Given the description of an element on the screen output the (x, y) to click on. 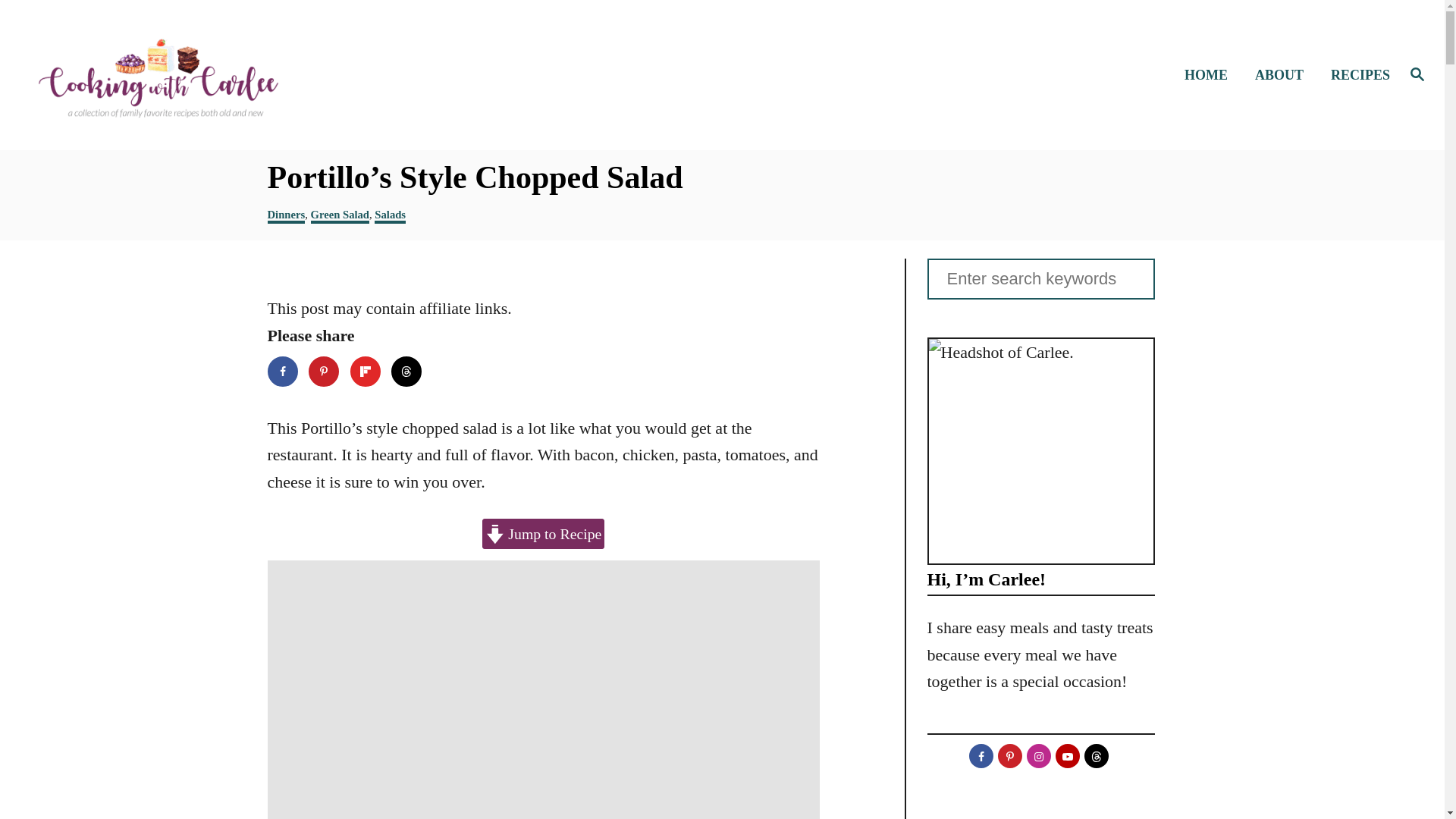
RECIPES (1356, 75)
Share on Flipboard (365, 371)
Green Salad (340, 215)
Share on Threads (406, 371)
Magnifying Glass (1416, 74)
Save to Pinterest (323, 371)
Share on Facebook (281, 371)
Dinners (285, 215)
Jump to Recipe (543, 533)
Salads (390, 215)
